Given the description of an element on the screen output the (x, y) to click on. 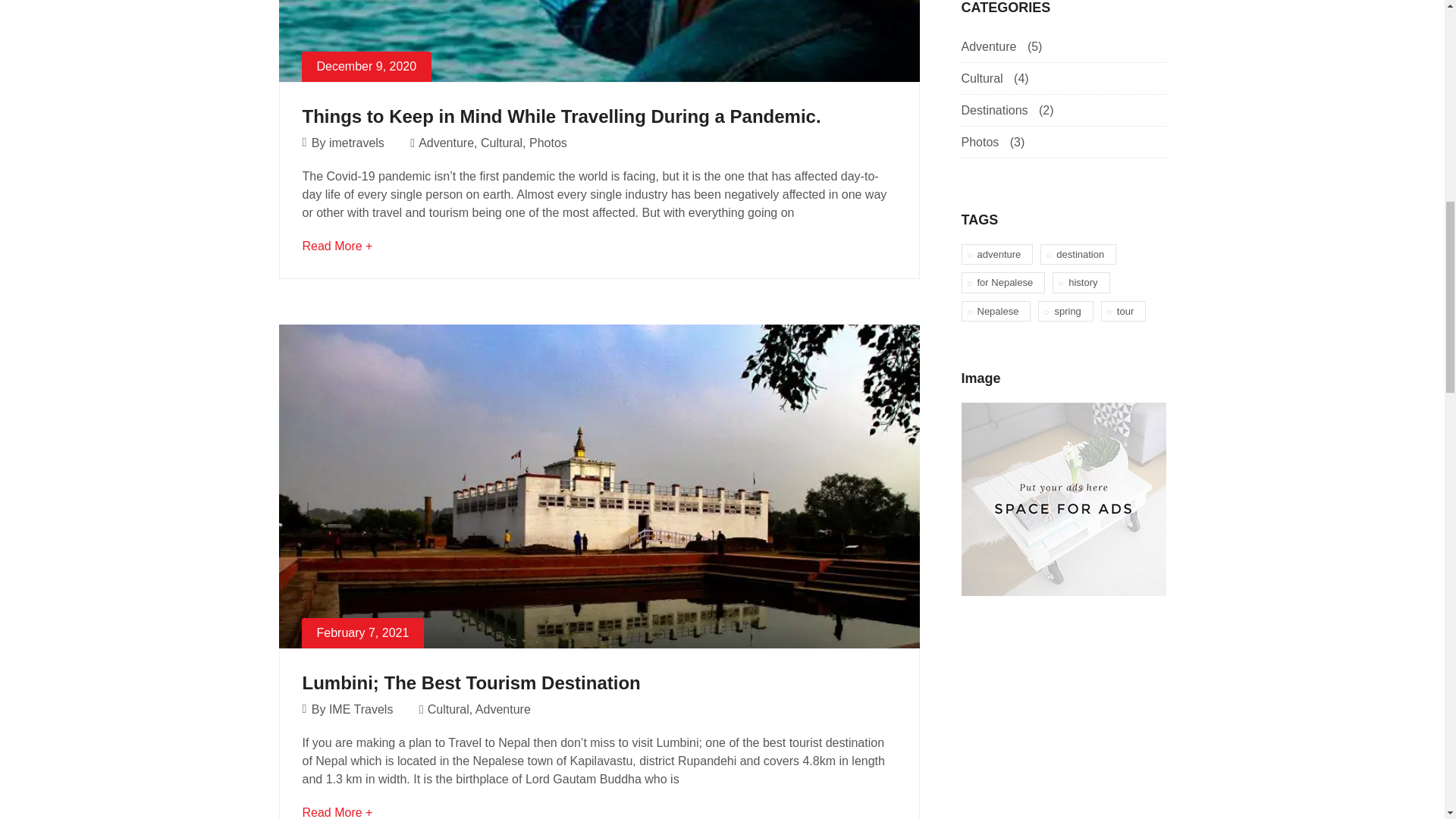
Cultural (501, 142)
December 9, 2020 (599, 41)
imetravels (356, 142)
IME Travels (361, 708)
Things to Keep in Mind While Travelling During a Pandemic. (561, 116)
Posts by IME Travels (361, 708)
Posts by imetravels (356, 142)
Photos (548, 142)
Adventure (446, 142)
Lumbini; The Best Tourism Destination (470, 682)
